Given the description of an element on the screen output the (x, y) to click on. 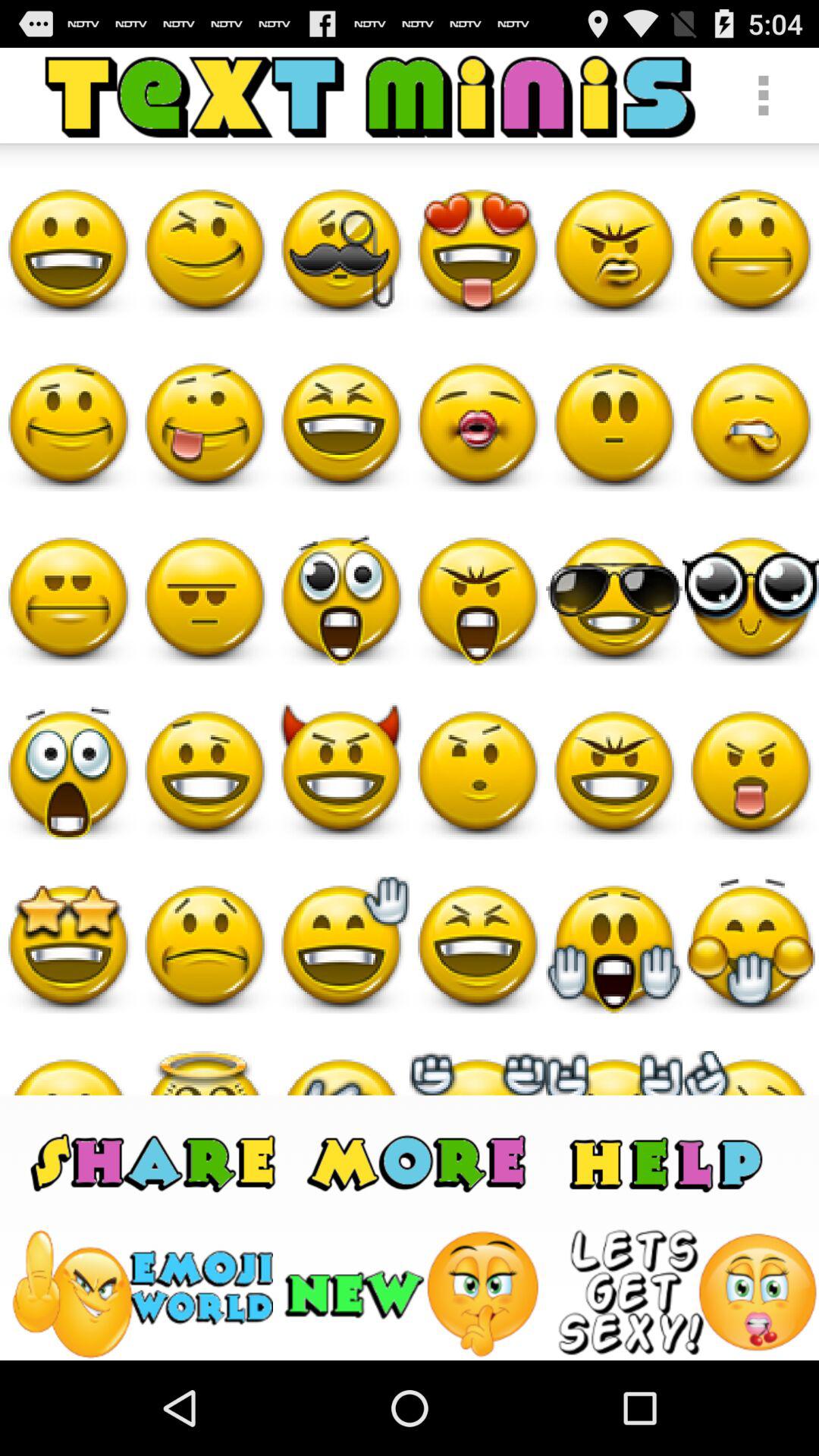
select item (687, 1293)
